Given the description of an element on the screen output the (x, y) to click on. 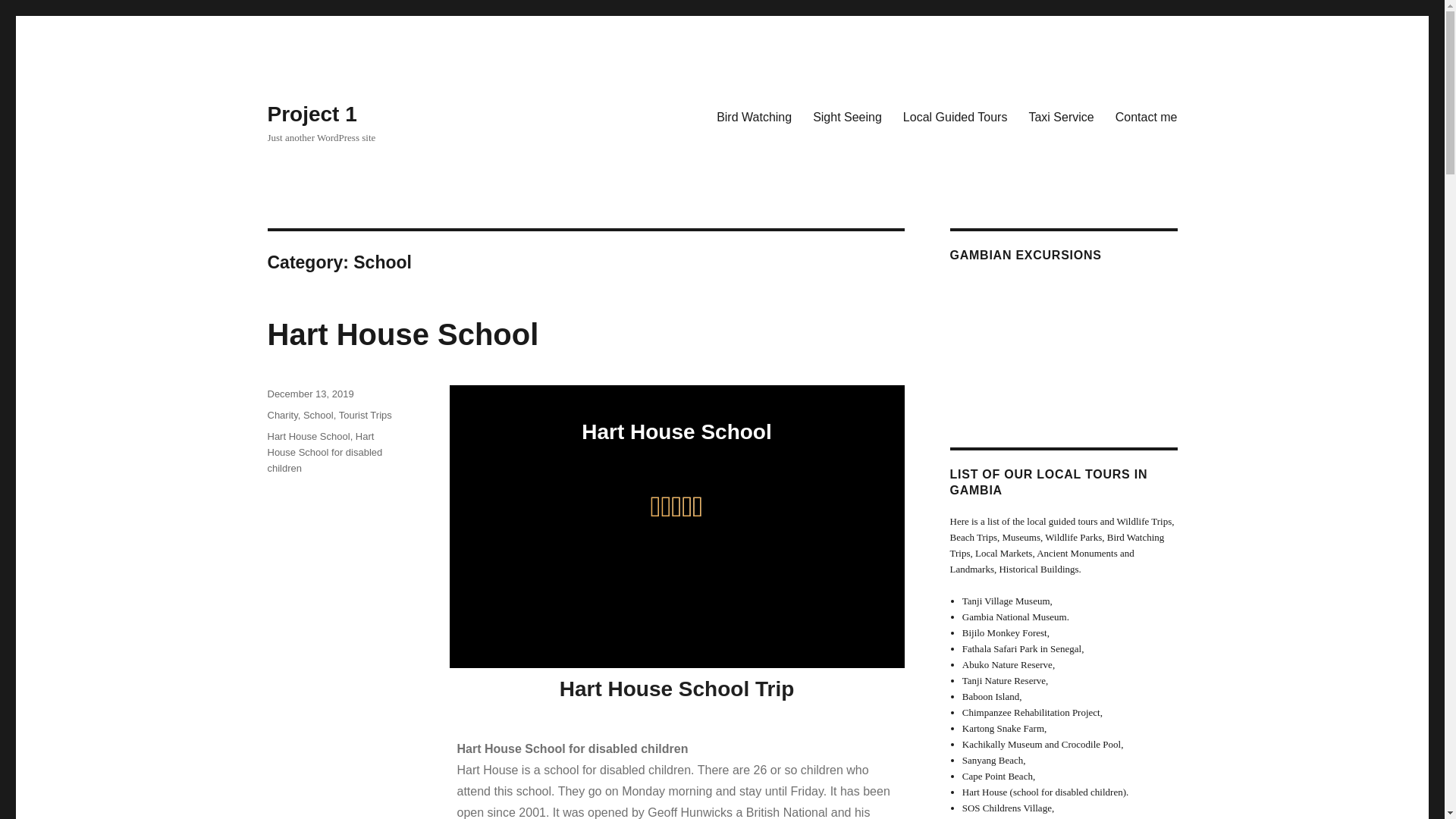
Hart House School (402, 334)
Local Guided Tours (954, 116)
Charity (281, 414)
Taxi Service (1060, 116)
Project 1 (311, 114)
December 13, 2019 (309, 393)
School (317, 414)
Hart House School for disabled children (323, 452)
Sight Seeing (847, 116)
Hart House School (307, 436)
Tourist Trips (365, 414)
Contact me (1146, 116)
Bird Watching (754, 116)
